Given the description of an element on the screen output the (x, y) to click on. 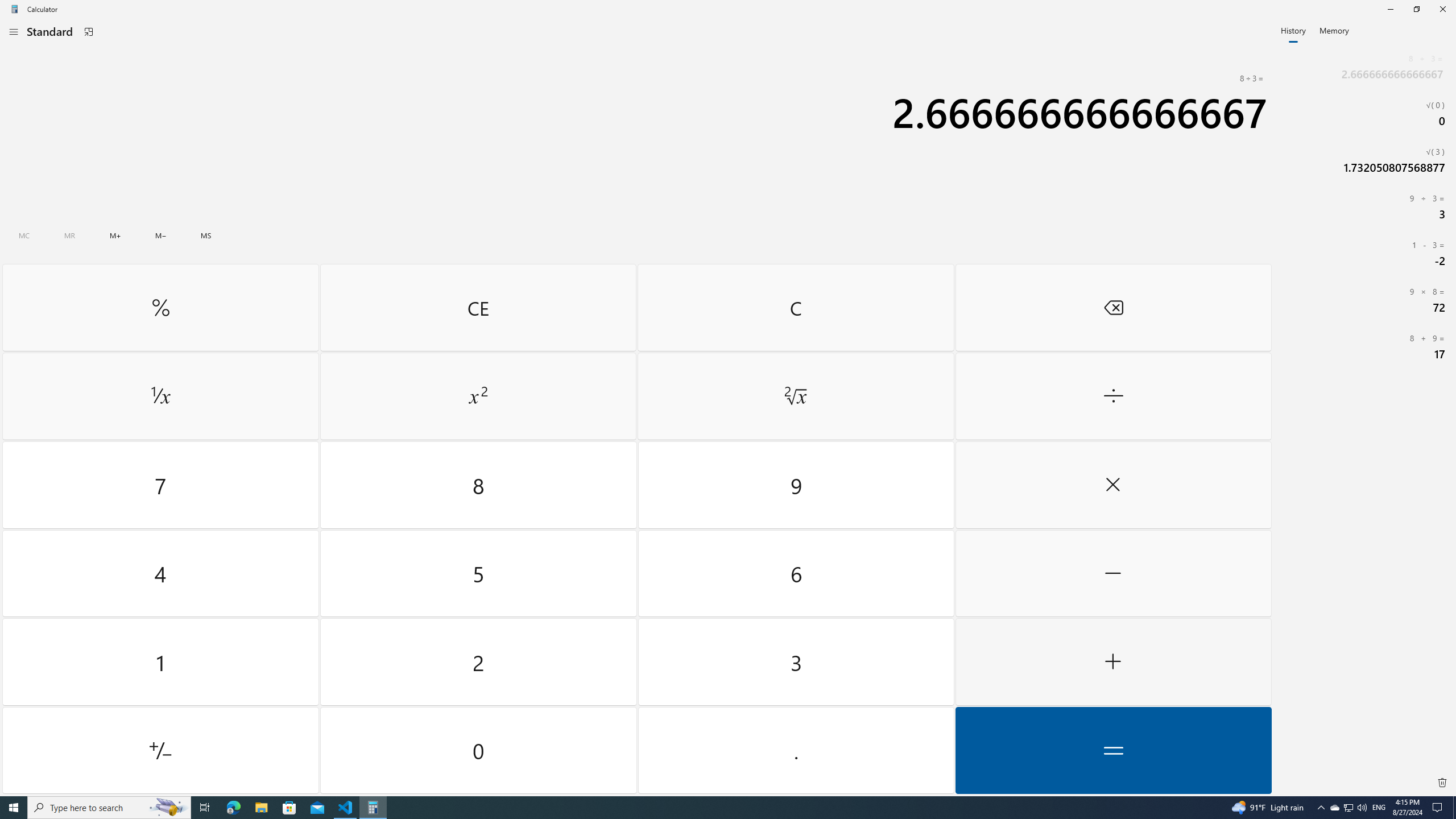
Visual Studio Code - 1 running window (345, 807)
Tray Input Indicator - English (United States) (1378, 807)
